Given the description of an element on the screen output the (x, y) to click on. 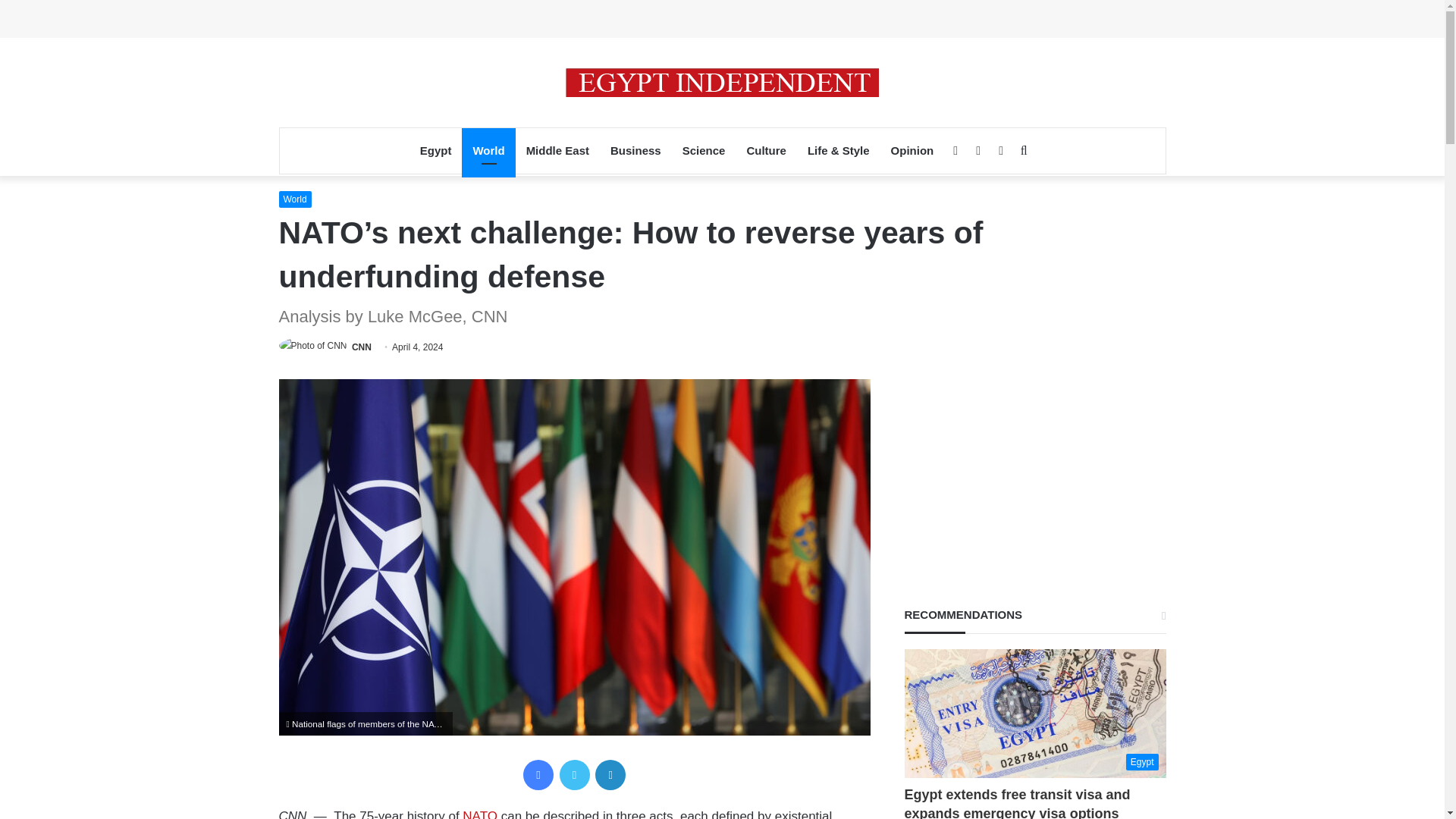
CNN (361, 347)
Egypt (436, 150)
CNN (361, 347)
Opinion (912, 150)
Facebook (537, 775)
Twitter (574, 775)
Egypt Independent (722, 82)
Facebook (537, 775)
World (295, 199)
Twitter (574, 775)
